Given the description of an element on the screen output the (x, y) to click on. 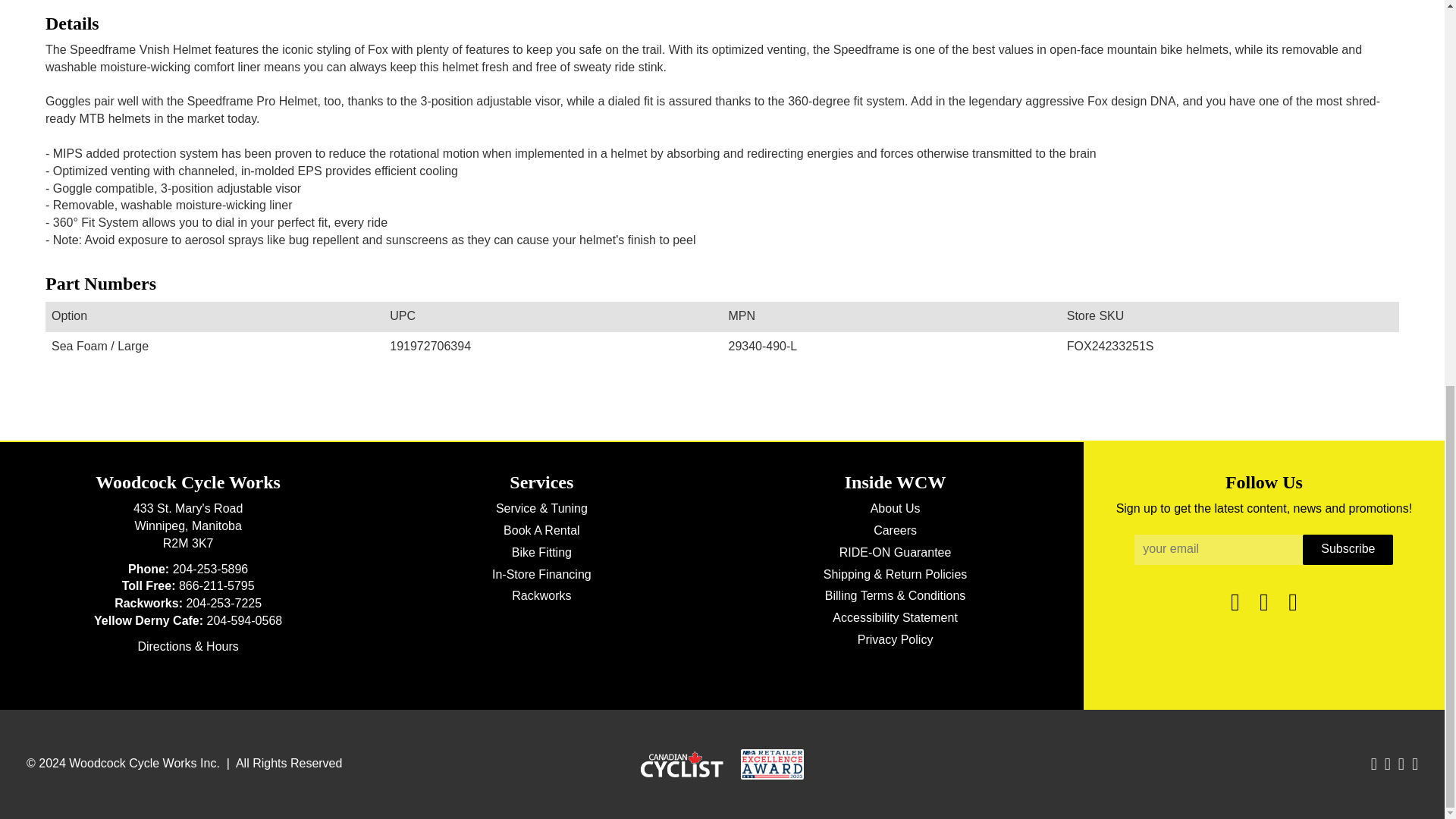
Subscribe (1348, 549)
